Given the description of an element on the screen output the (x, y) to click on. 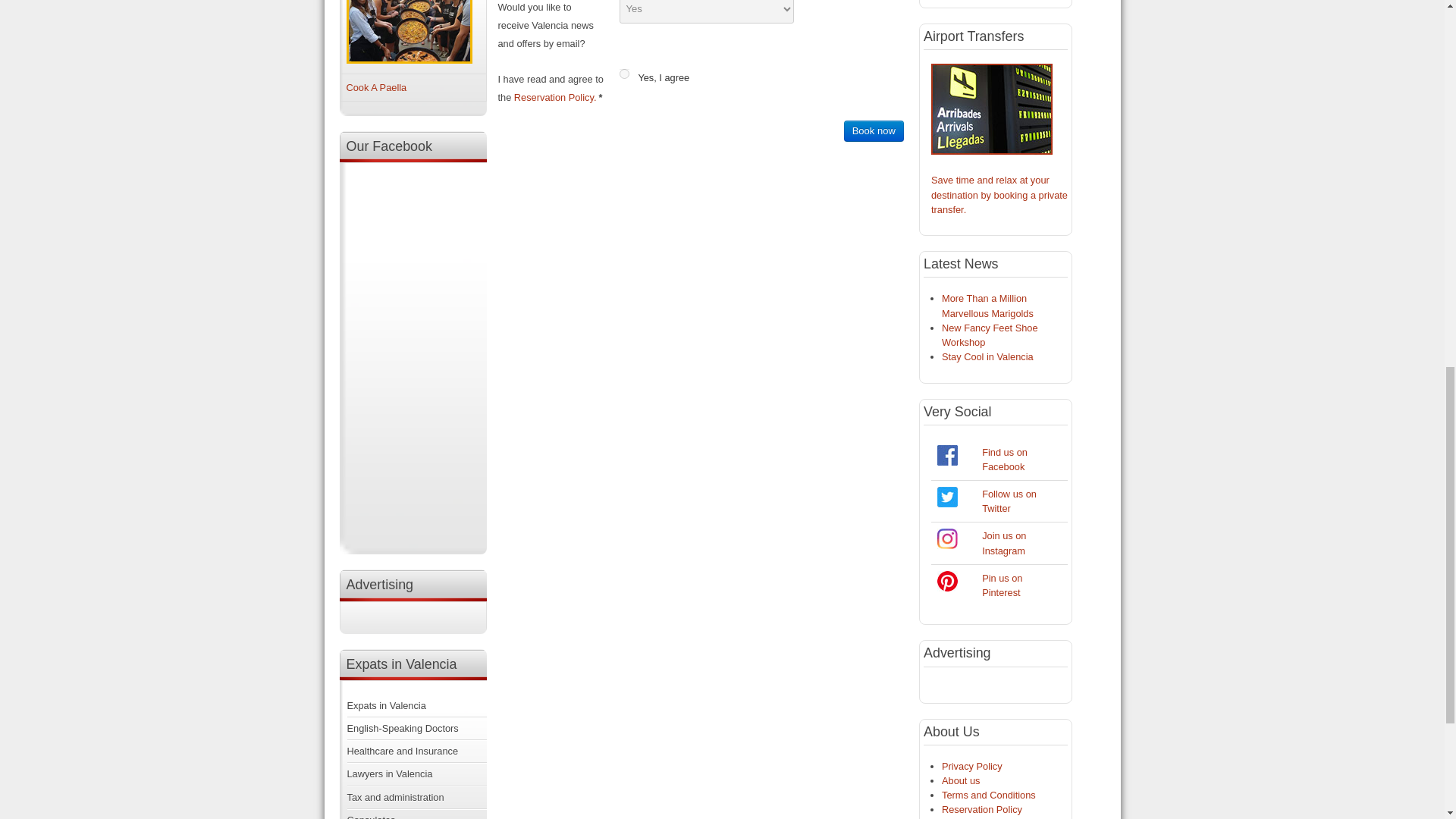
Find us on Facebook (947, 455)
Follow us on Twitter (947, 496)
Follow us on Twitter (947, 503)
Valencia airport transfers (999, 194)
Find us on Facebook (1004, 459)
Valencia airport transfers (991, 151)
Join us on Instagram (1003, 542)
Join us on Instagram (947, 545)
Learn to cook your own authentic Valencian paella (376, 87)
